Given the description of an element on the screen output the (x, y) to click on. 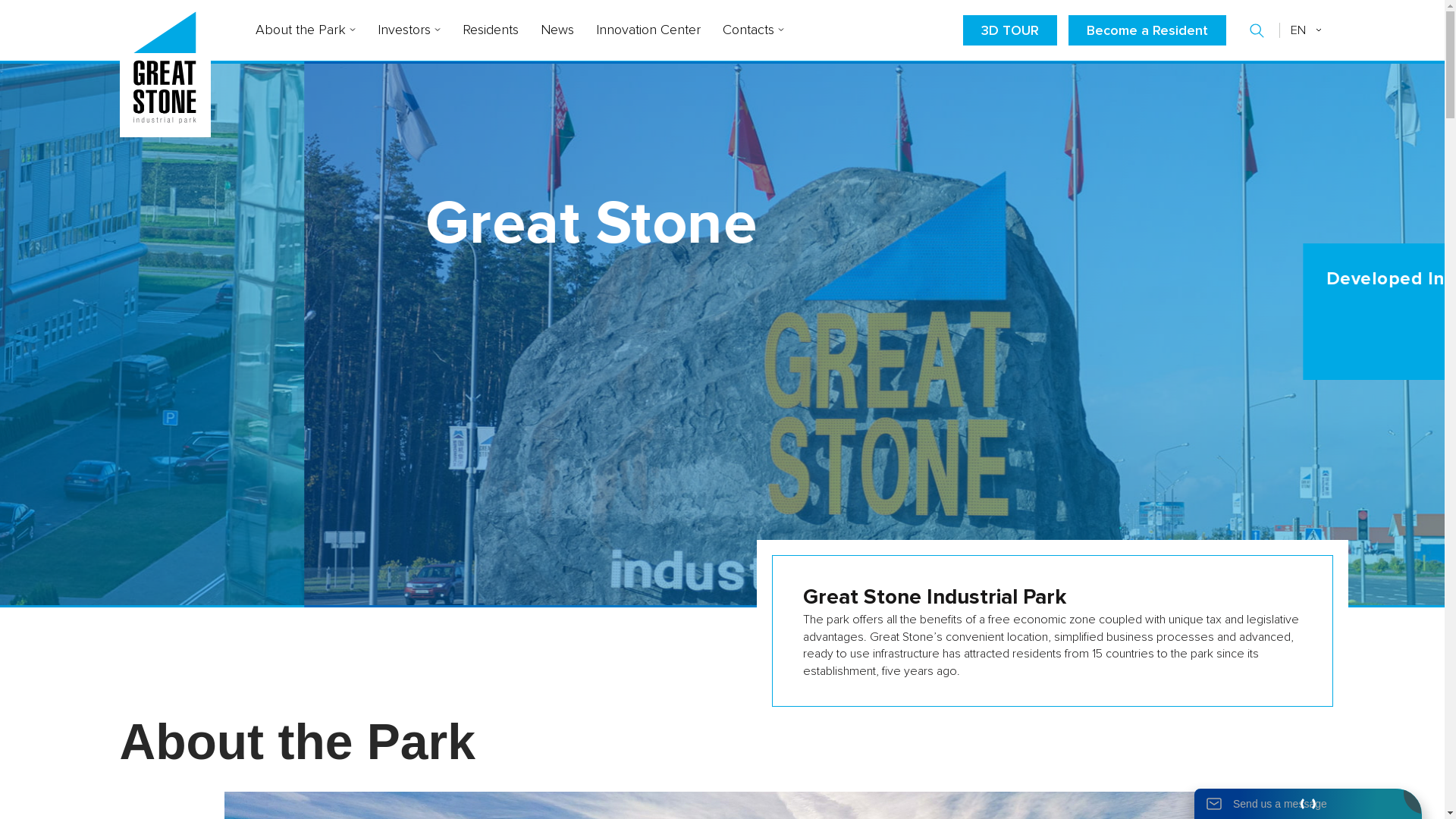
About the Park Element type: text (304, 29)
Residents Element type: text (490, 29)
3D TOUR Element type: text (1010, 30)
News Element type: text (556, 29)
Innovation Center Element type: text (648, 29)
Contacts Element type: text (752, 29)
Investors Element type: text (408, 29)
